Given the description of an element on the screen output the (x, y) to click on. 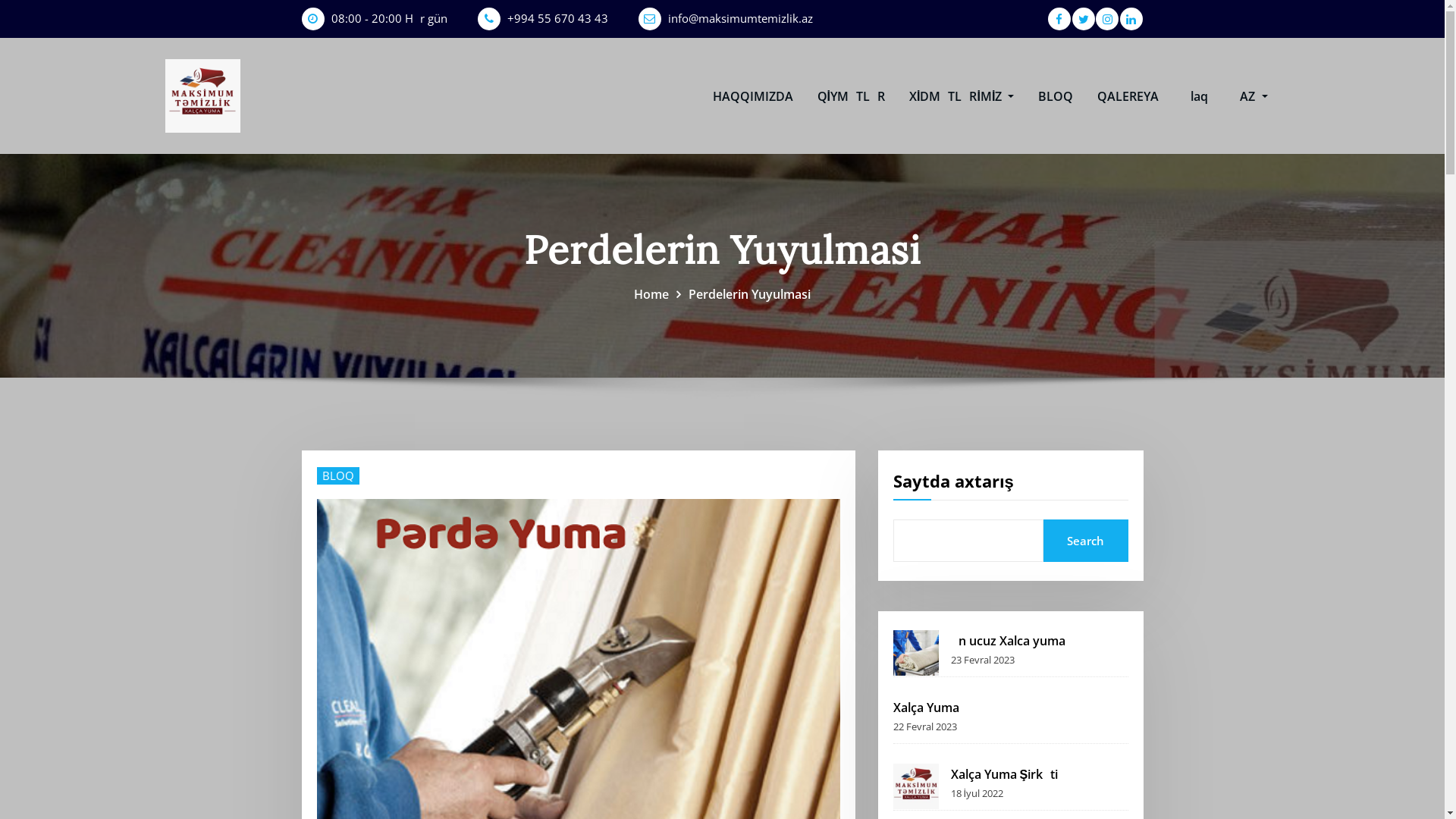
BLOQ Element type: text (337, 475)
info@maksimumtemizlik.az Element type: text (739, 17)
HAQQIMIZDA Element type: text (752, 95)
Search Element type: text (1085, 540)
+994 55 670 43 43 Element type: text (556, 17)
AZ Element type: text (1253, 95)
Perdelerin Yuyulmasi Element type: text (749, 293)
Home Element type: text (650, 293)
QALEREYA Element type: text (1127, 95)
BLOQ Element type: text (1055, 95)
